Given the description of an element on the screen output the (x, y) to click on. 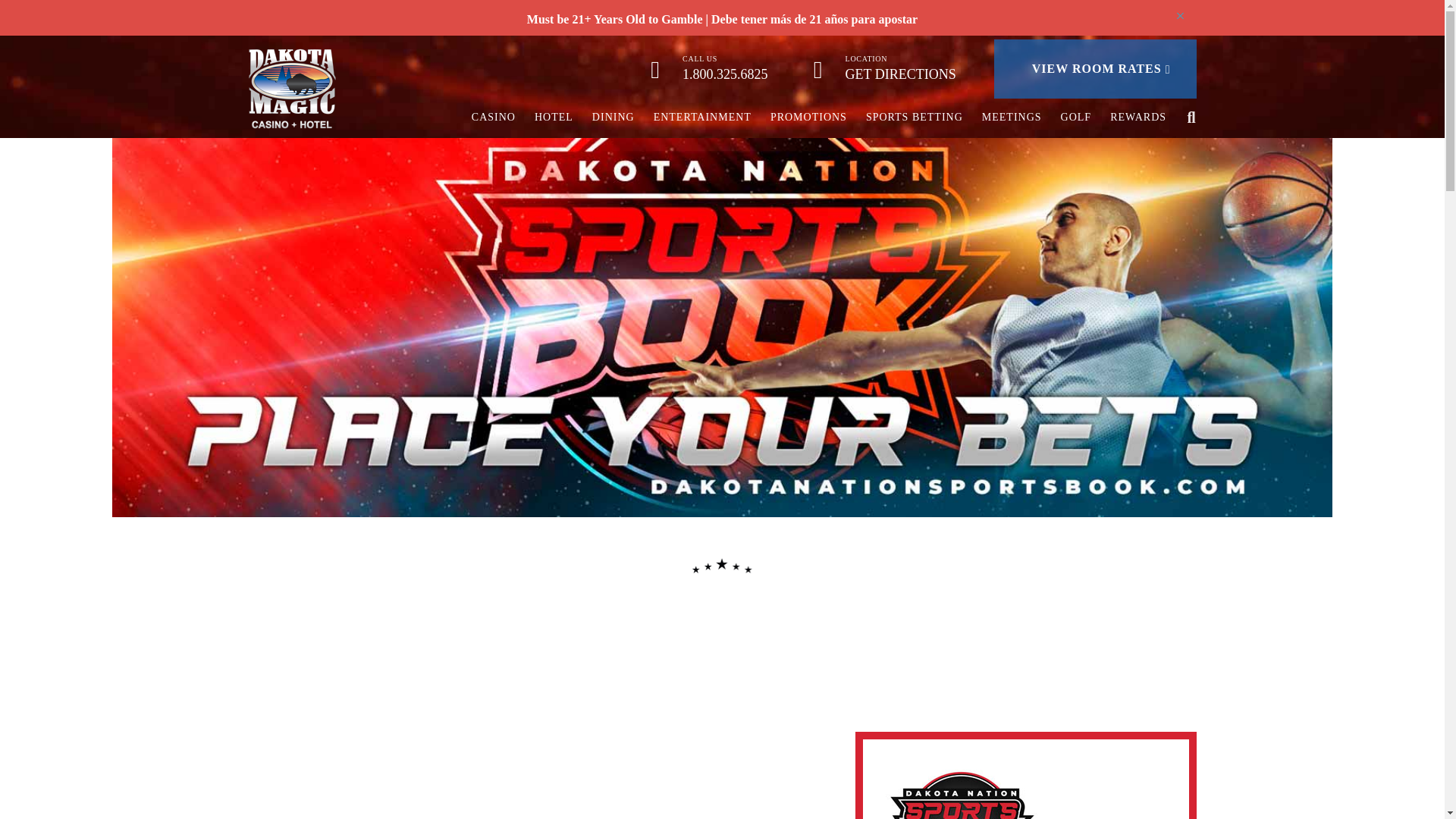
ENTERTAINMENT (702, 117)
HOTEL (553, 117)
GET DIRECTIONS (900, 73)
1.800.325.6825 (725, 73)
MEETINGS (1011, 117)
CALL US (699, 58)
CASINO (493, 117)
LOCATION (866, 58)
DINING (613, 117)
PROMOTIONS (808, 117)
